Given the description of an element on the screen output the (x, y) to click on. 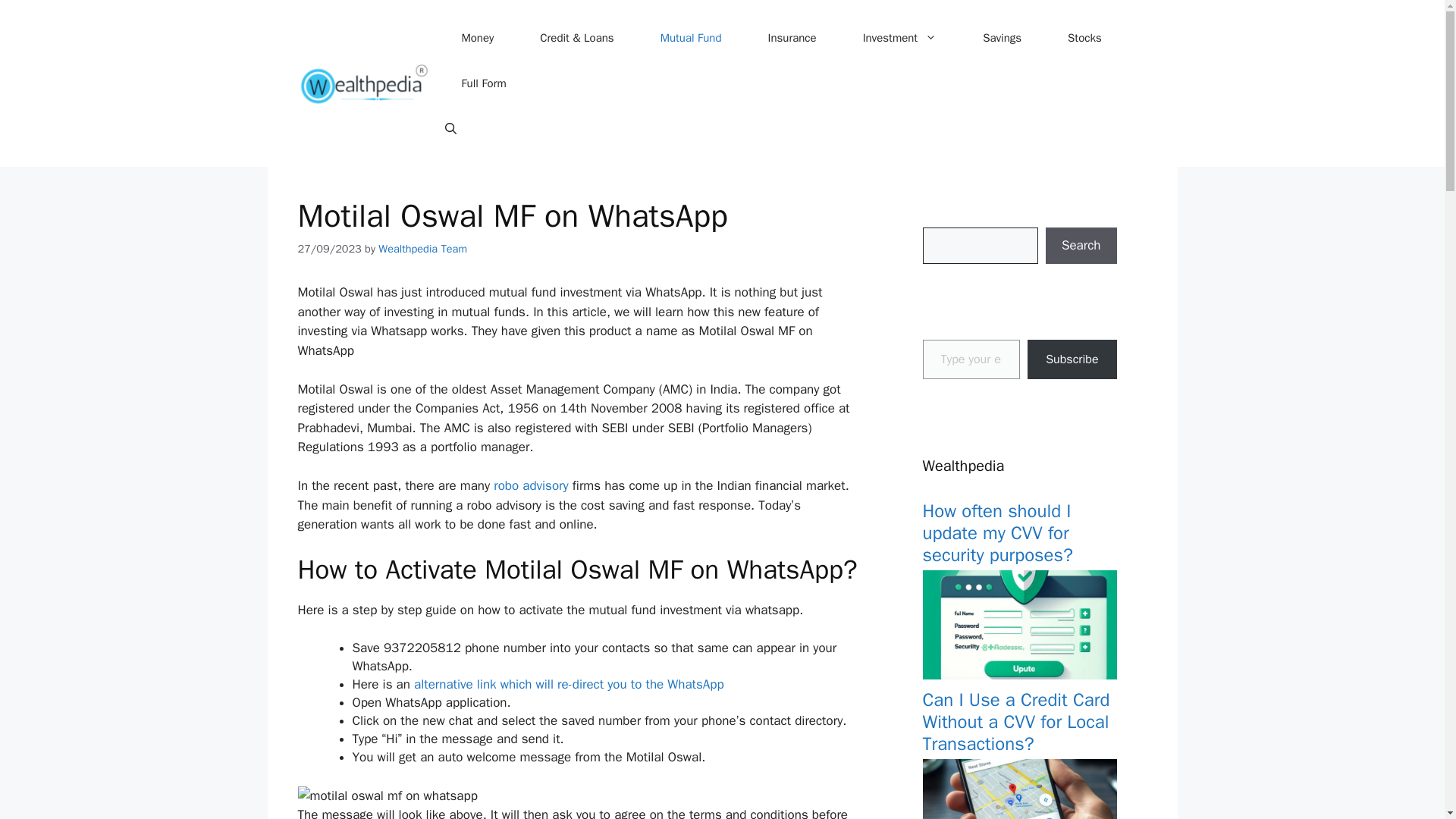
Please fill in this field. (970, 359)
Stocks (1084, 37)
How often should I update my CVV for security purposes? (996, 532)
Mutual Fund (690, 37)
Insurance (791, 37)
Money (476, 37)
Investment (899, 37)
robo advisory (530, 485)
How often should I update my CVV for security purposes? (1018, 675)
View all posts by Wealthpedia Team (422, 248)
Savings (1002, 37)
Full Form (483, 83)
alternative link which will re-direct you to the WhatsApp (568, 684)
Wealthpedia Team (422, 248)
